Given the description of an element on the screen output the (x, y) to click on. 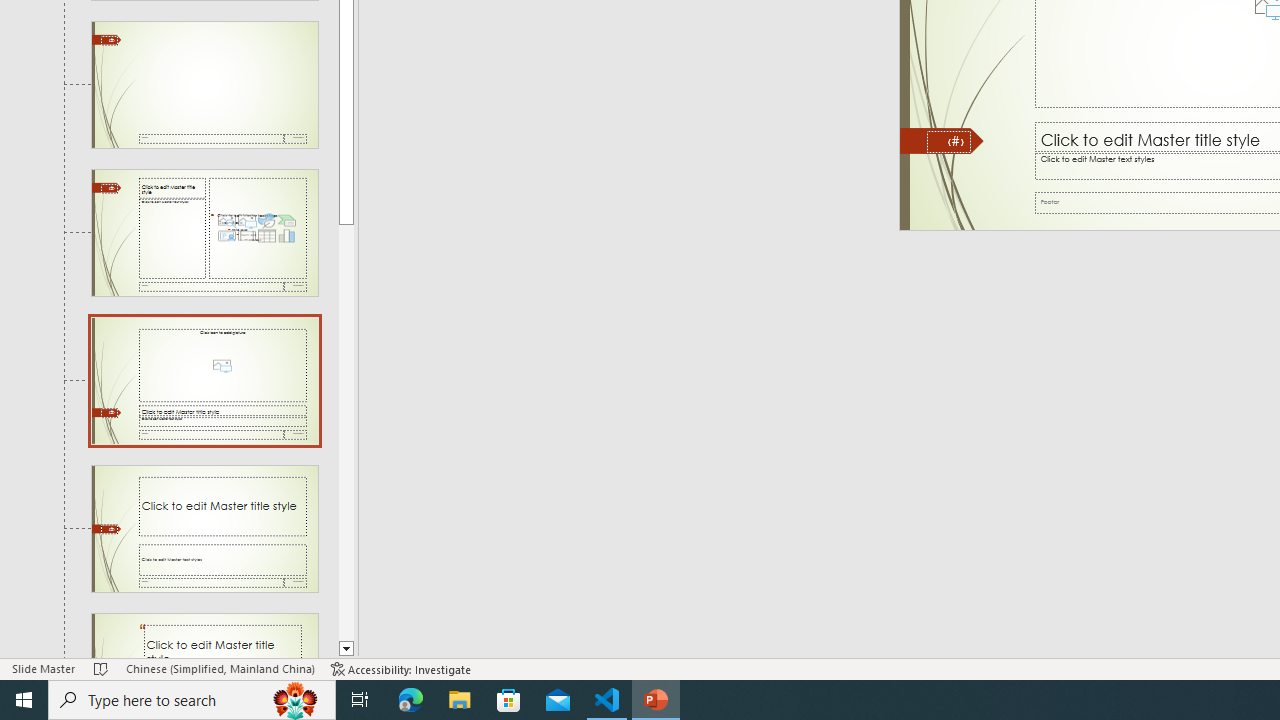
Slide Title and Caption Layout: used by no slides (204, 528)
Slide Number (948, 141)
Slide Quote with Caption Layout: used by no slides (204, 636)
Slide Picture with Caption Layout: used by no slides (204, 381)
Freeform 11 (941, 141)
Slide Blank Layout: used by no slides (204, 85)
Slide Content with Caption Layout: used by no slides (204, 232)
